Given the description of an element on the screen output the (x, y) to click on. 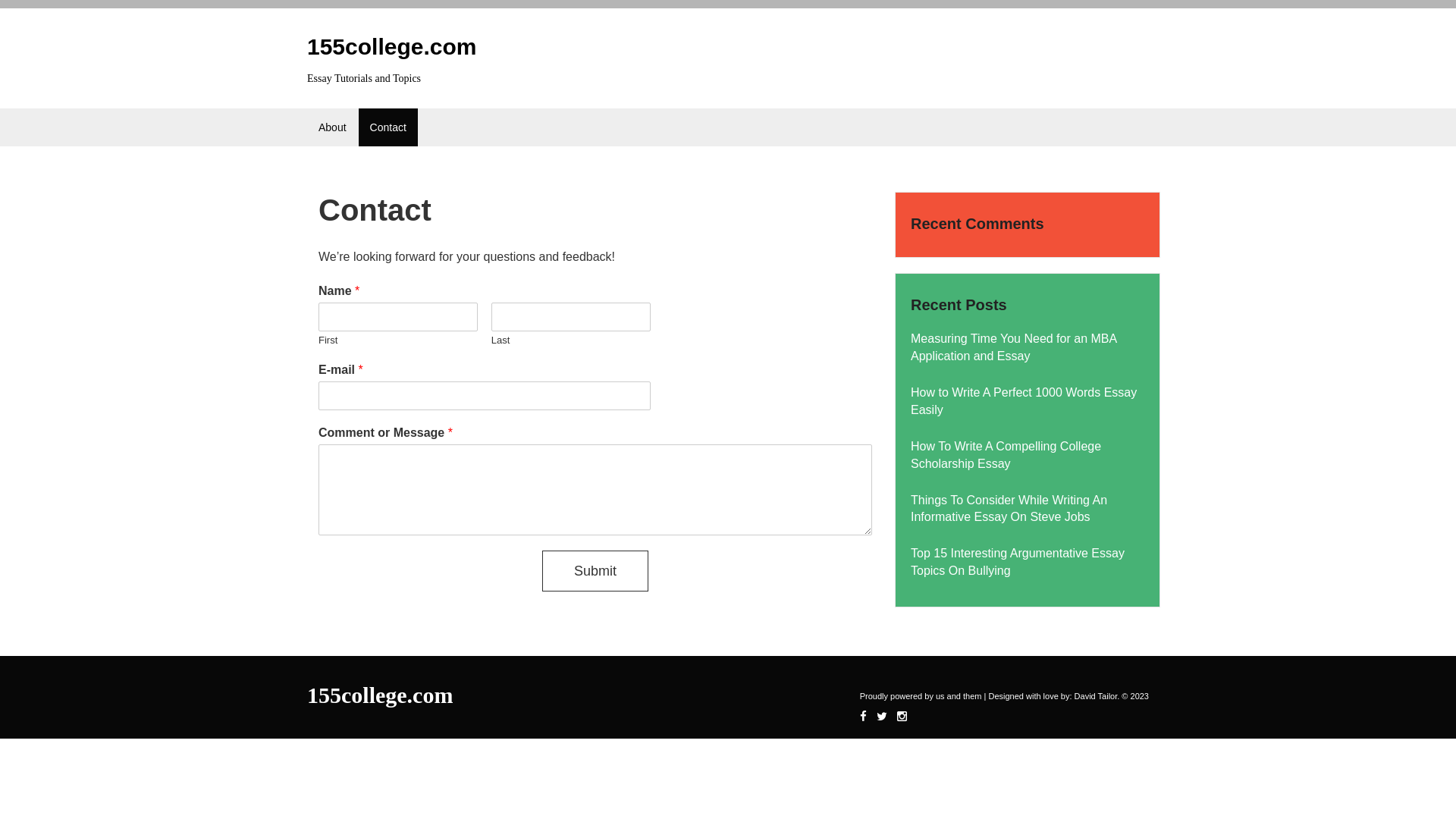
155college.com Element type: text (379, 694)
Top 15 Interesting Argumentative Essay Topics On Bullying Element type: text (1017, 561)
Submit Element type: text (595, 570)
Measuring Time You Need for an MBA Application and Essay Element type: text (1013, 347)
155college.com Element type: text (391, 46)
How to Write A Perfect 1000 Words Essay Easily Element type: text (1023, 400)
About Element type: text (332, 127)
Contact Element type: text (387, 127)
How To Write A Compelling College Scholarship Essay Element type: text (1005, 454)
